Given the description of an element on the screen output the (x, y) to click on. 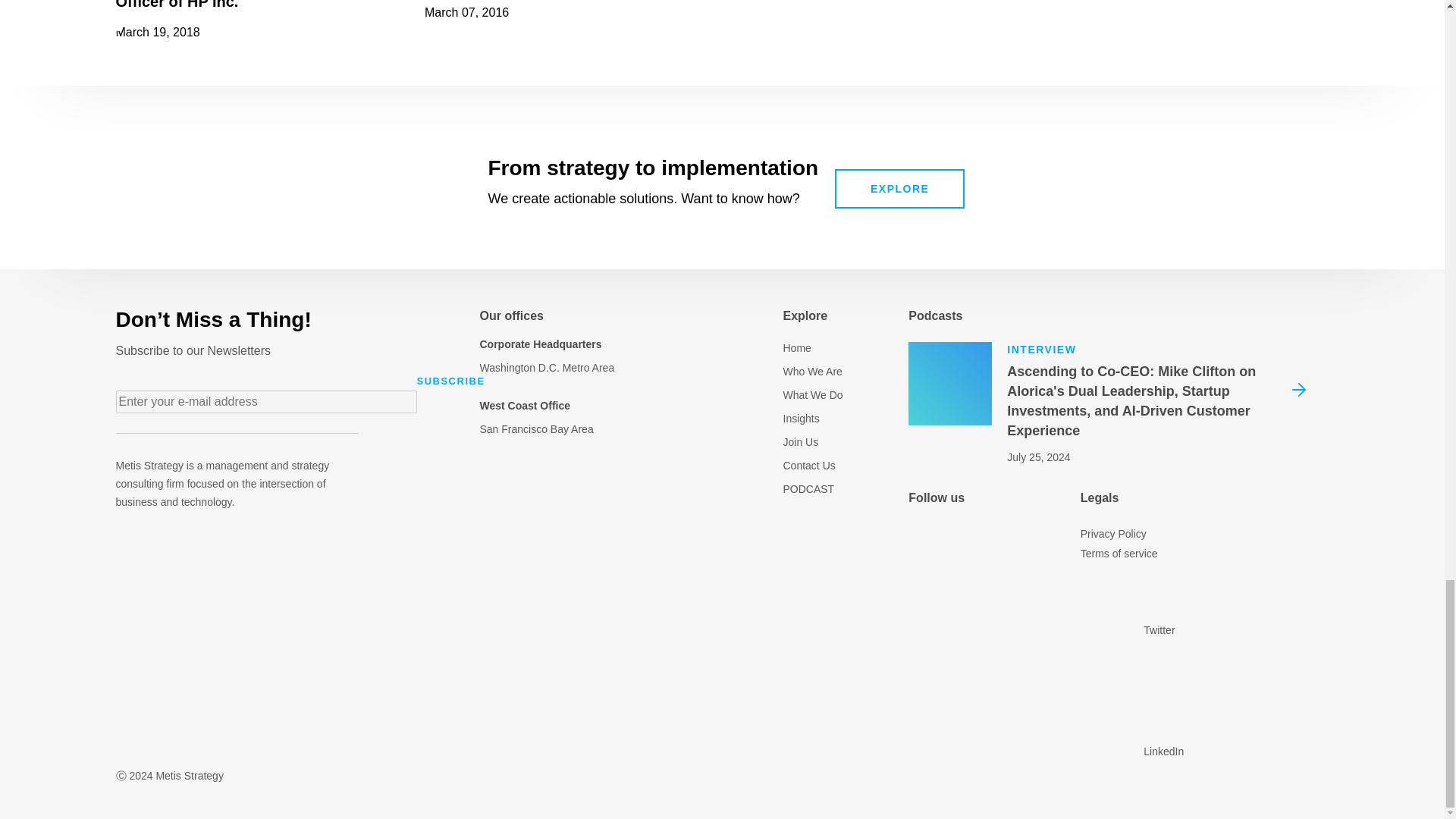
Subscribe (450, 381)
